Given the description of an element on the screen output the (x, y) to click on. 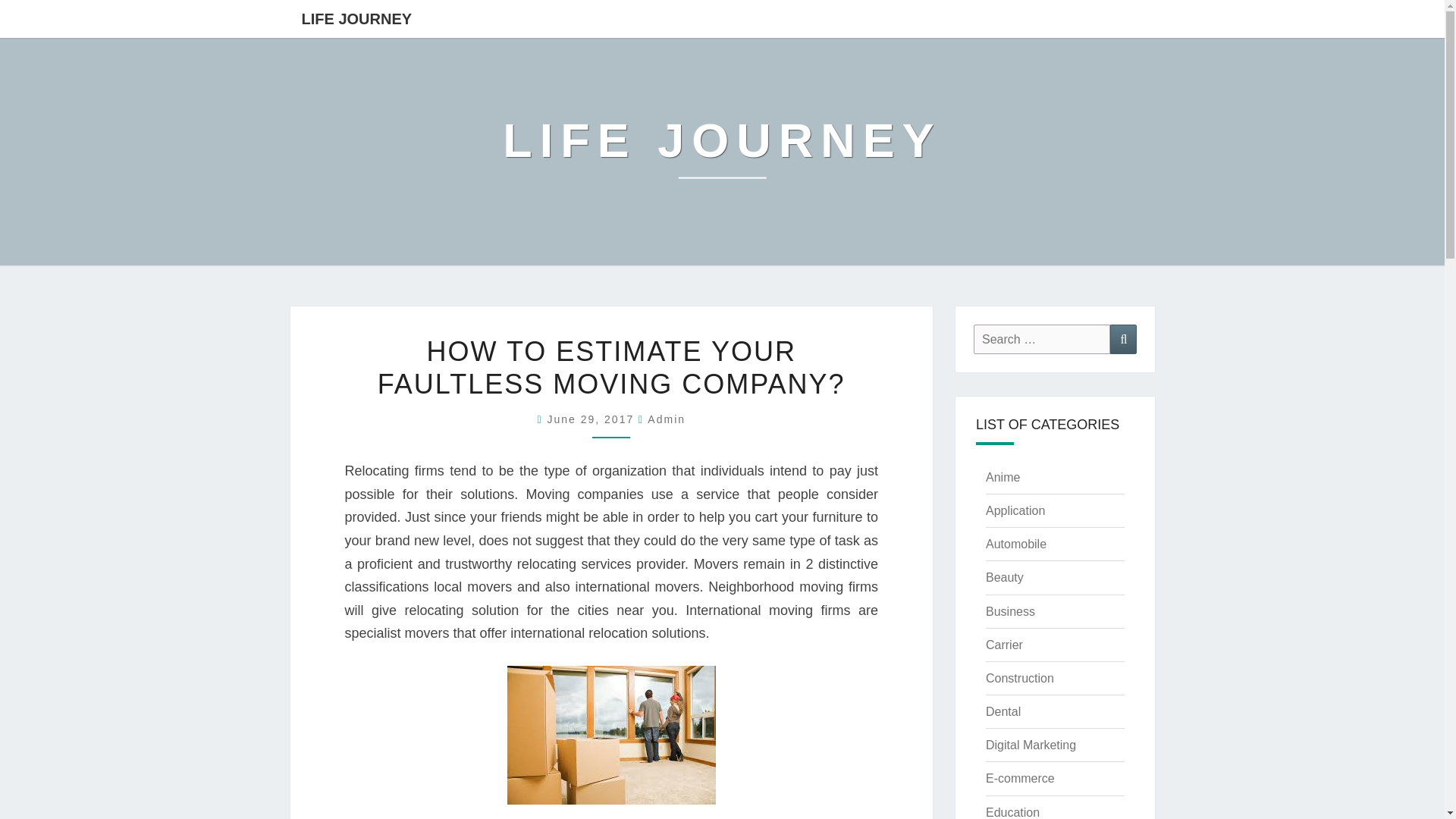
Automobile (1015, 543)
10:33 am (593, 419)
View all posts by admin (666, 419)
Admin (666, 419)
LIFE JOURNEY (722, 151)
Business (1010, 611)
Dental (1002, 711)
LIFE JOURNEY (356, 18)
Digital Marketing (1030, 744)
Search for: (1041, 338)
